Given the description of an element on the screen output the (x, y) to click on. 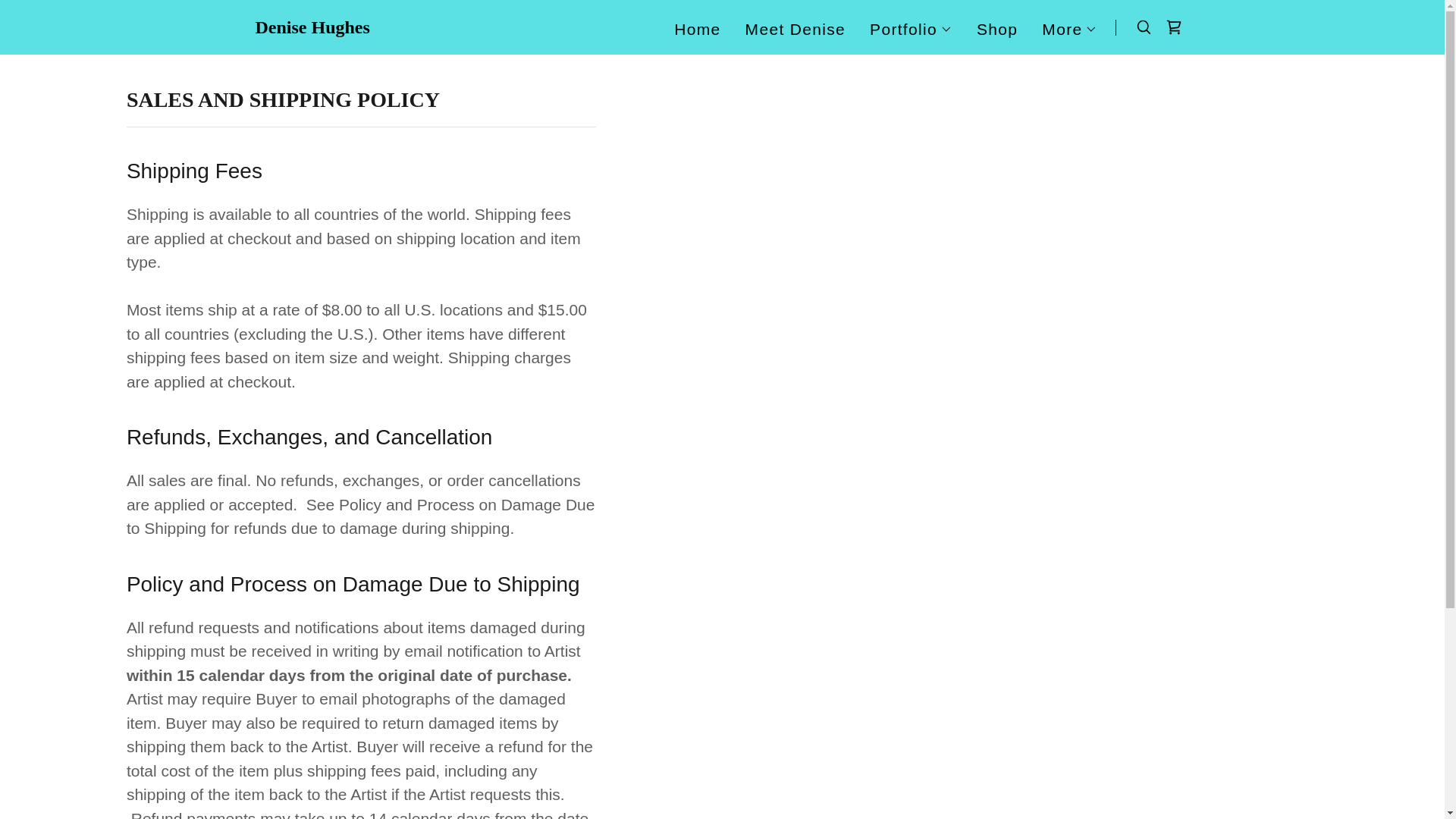
Home (697, 28)
Portfolio (910, 28)
Denise Hughes (311, 27)
Shop (997, 28)
Denise Hughes (311, 27)
More (1069, 28)
Meet Denise (795, 28)
